Given the description of an element on the screen output the (x, y) to click on. 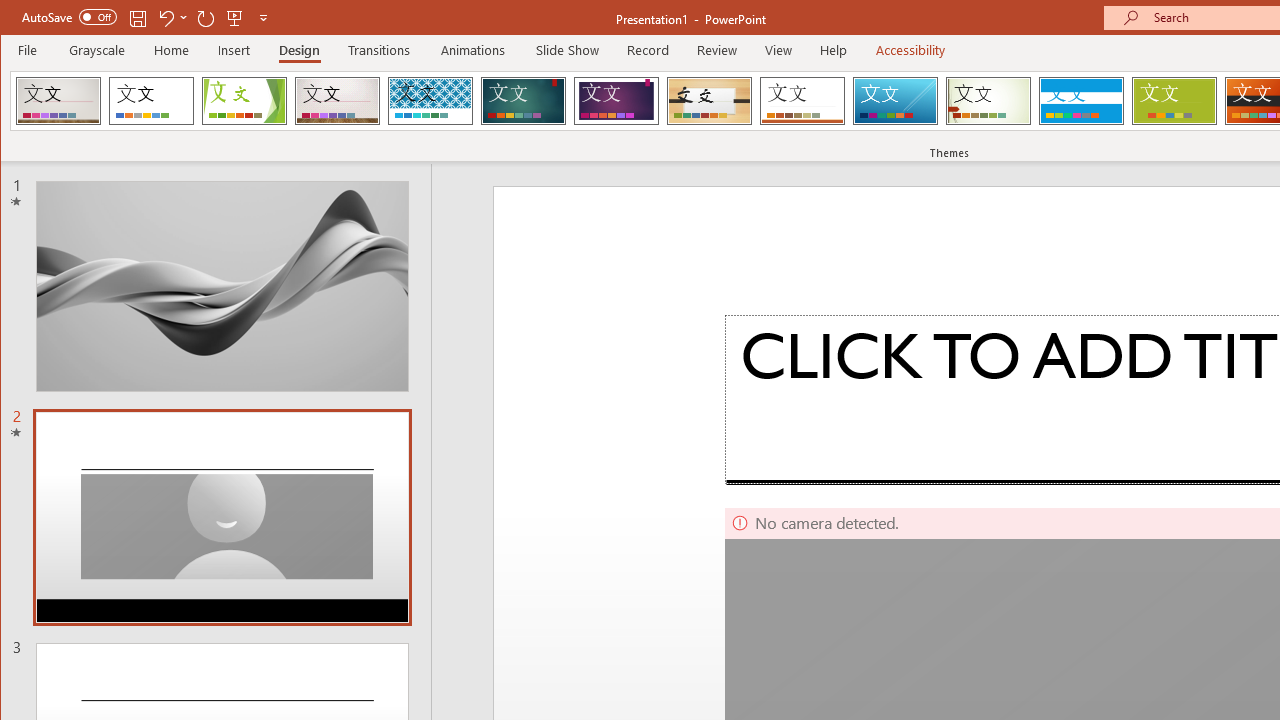
Berlin (57, 100)
Office Theme (151, 100)
Retrospect (802, 100)
Slice (895, 100)
